Given the description of an element on the screen output the (x, y) to click on. 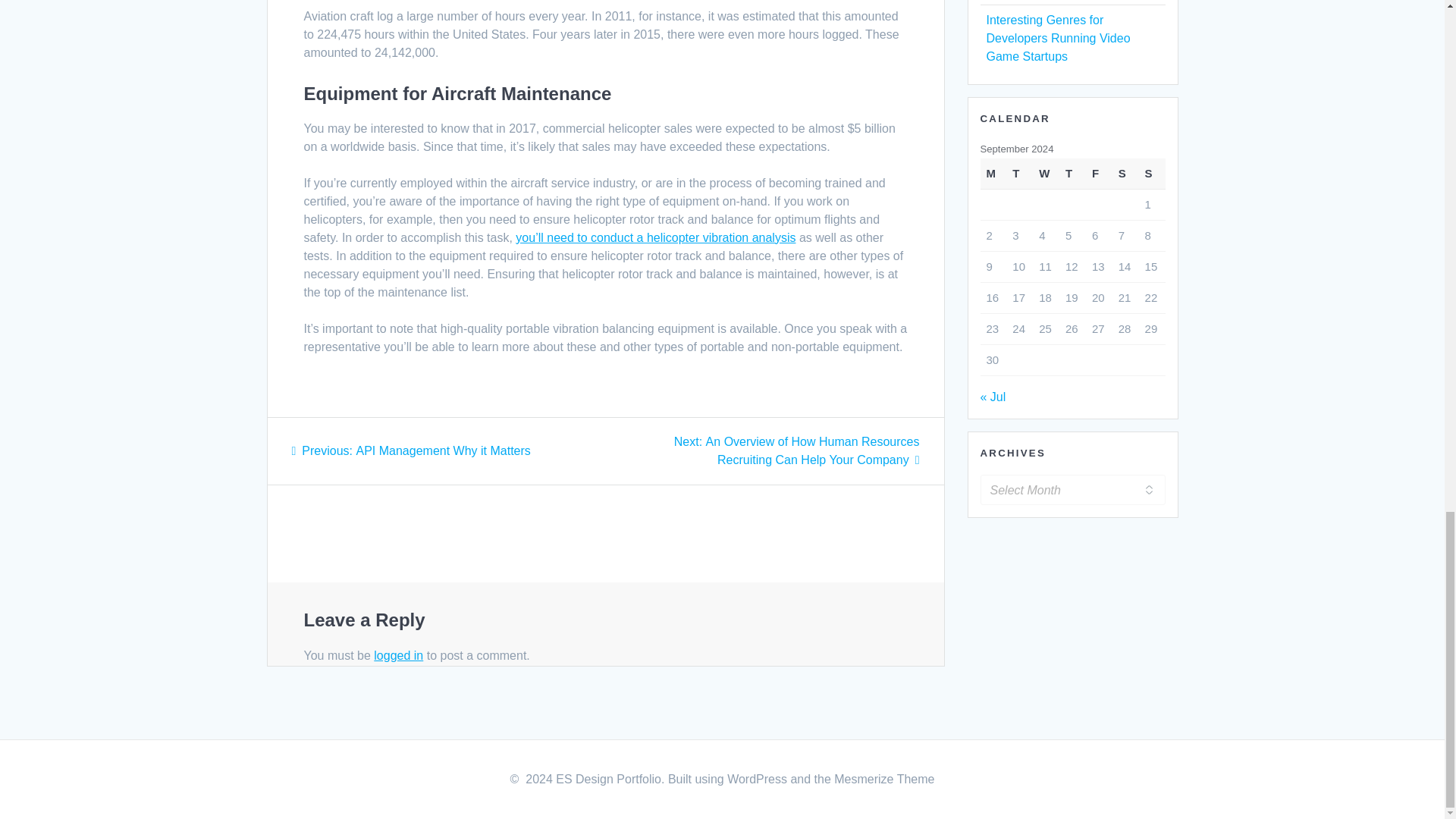
Routine maintenance (654, 237)
logged in (398, 655)
Mesmerize Theme (884, 779)
